Given the description of an element on the screen output the (x, y) to click on. 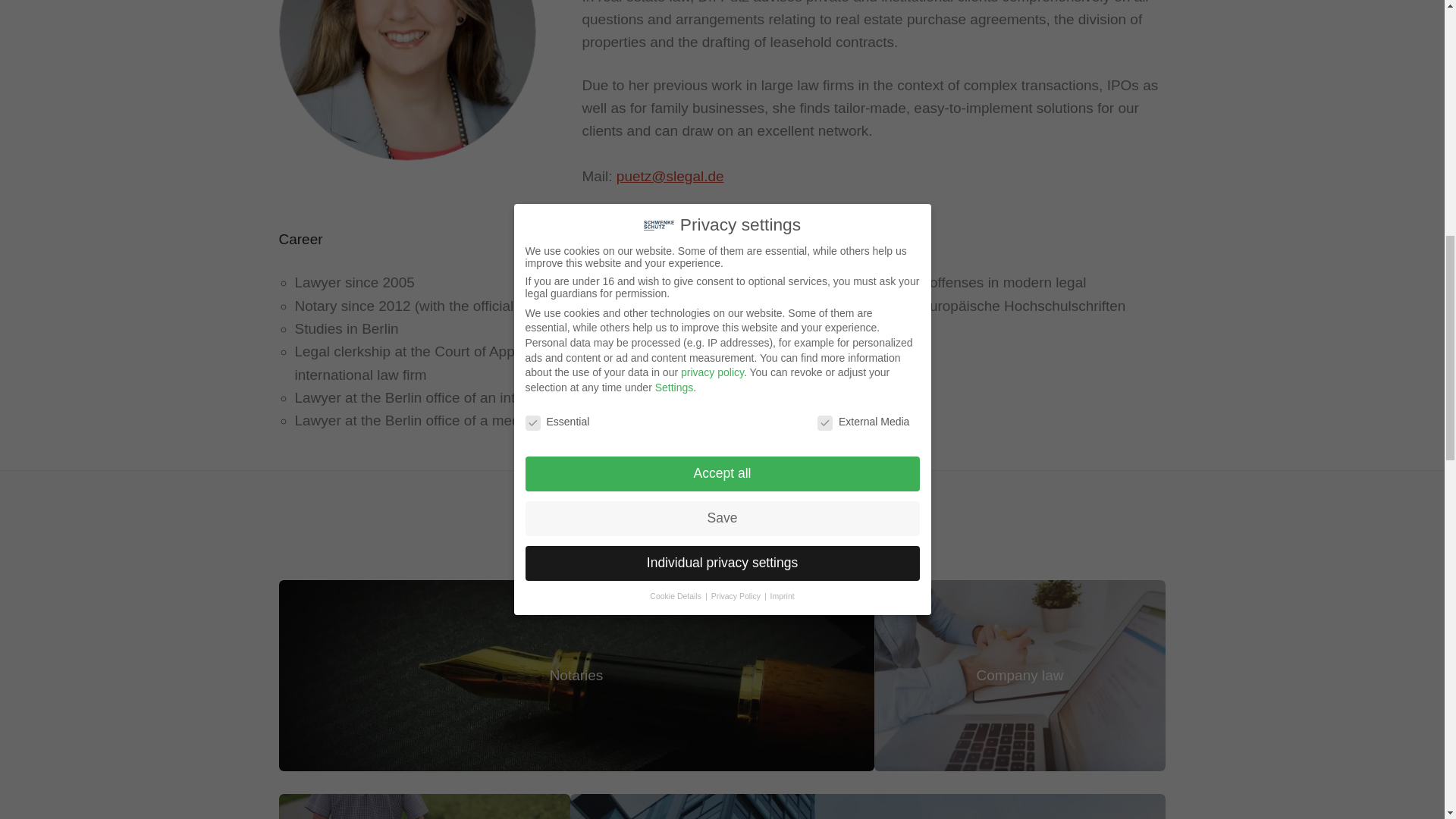
Notaries (577, 675)
Company law (1019, 675)
Bild1 (408, 80)
Inheritance rights (424, 806)
Real estate (868, 806)
